Given the description of an element on the screen output the (x, y) to click on. 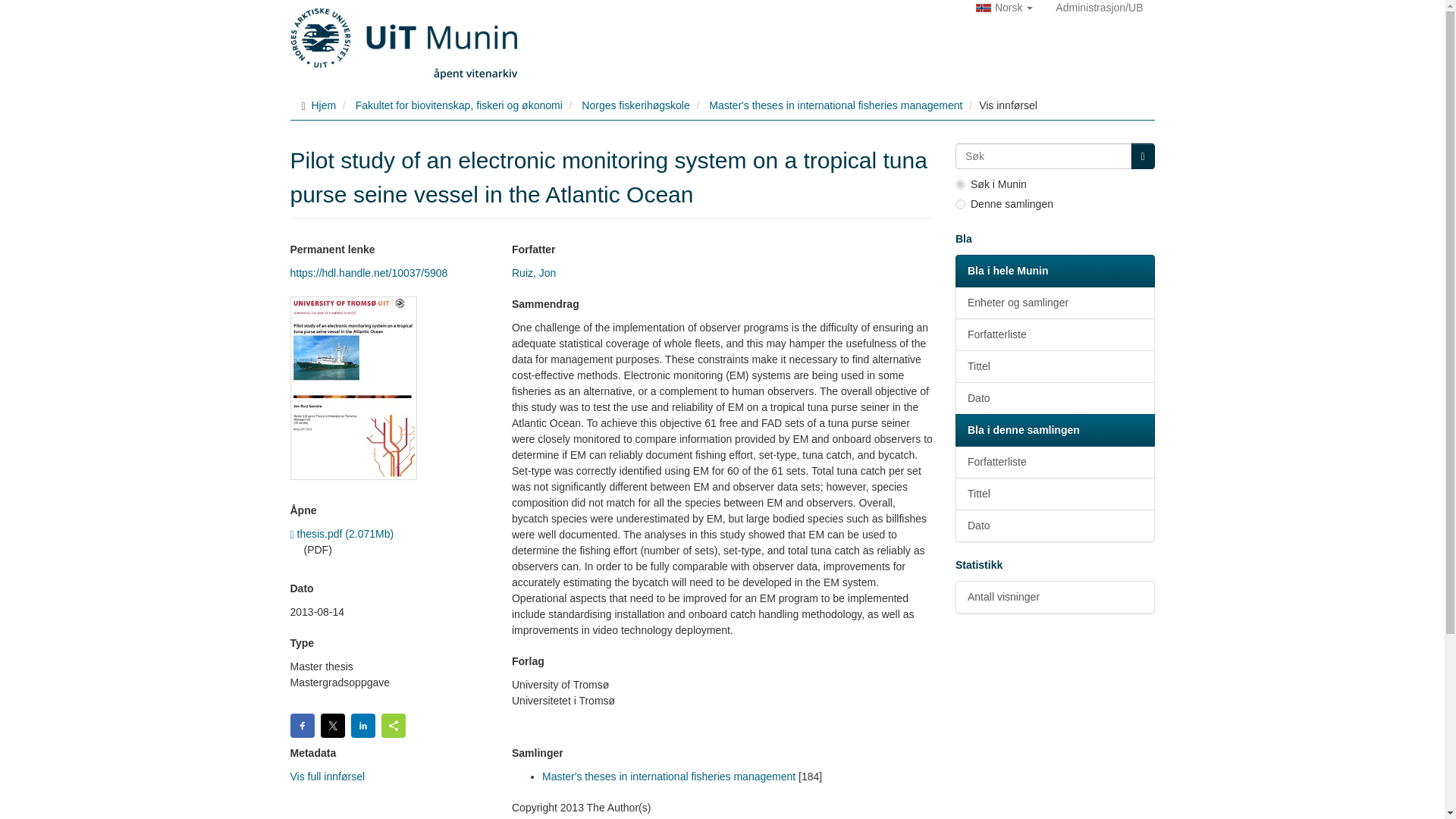
Ruiz, Jon (534, 272)
Enheter og samlinger (1054, 302)
Dato (1054, 525)
Master's theses in international fisheries management (667, 776)
Tittel (1054, 493)
Forfatterliste (1054, 334)
Bla i hele Munin (1054, 270)
Norsk  (1003, 7)
Dato (1054, 398)
Bla i denne samlingen (1054, 430)
